Given the description of an element on the screen output the (x, y) to click on. 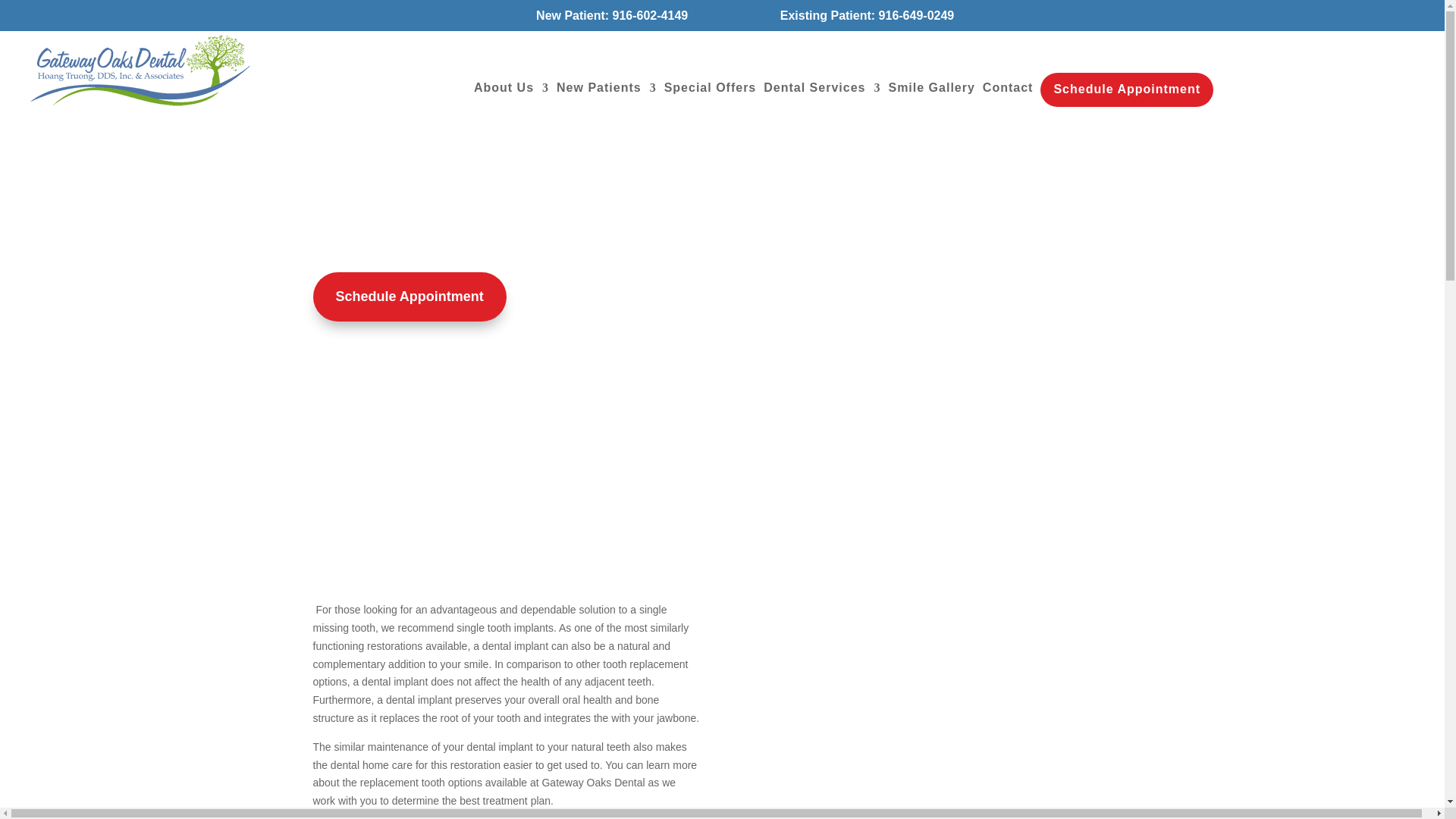
New Patients (606, 87)
New Patient: 916-602-4149 (605, 15)
Existing Patient: 916-649-0249 (867, 15)
About Us (511, 87)
Dental Services (821, 87)
Special Offers (710, 87)
